Given the description of an element on the screen output the (x, y) to click on. 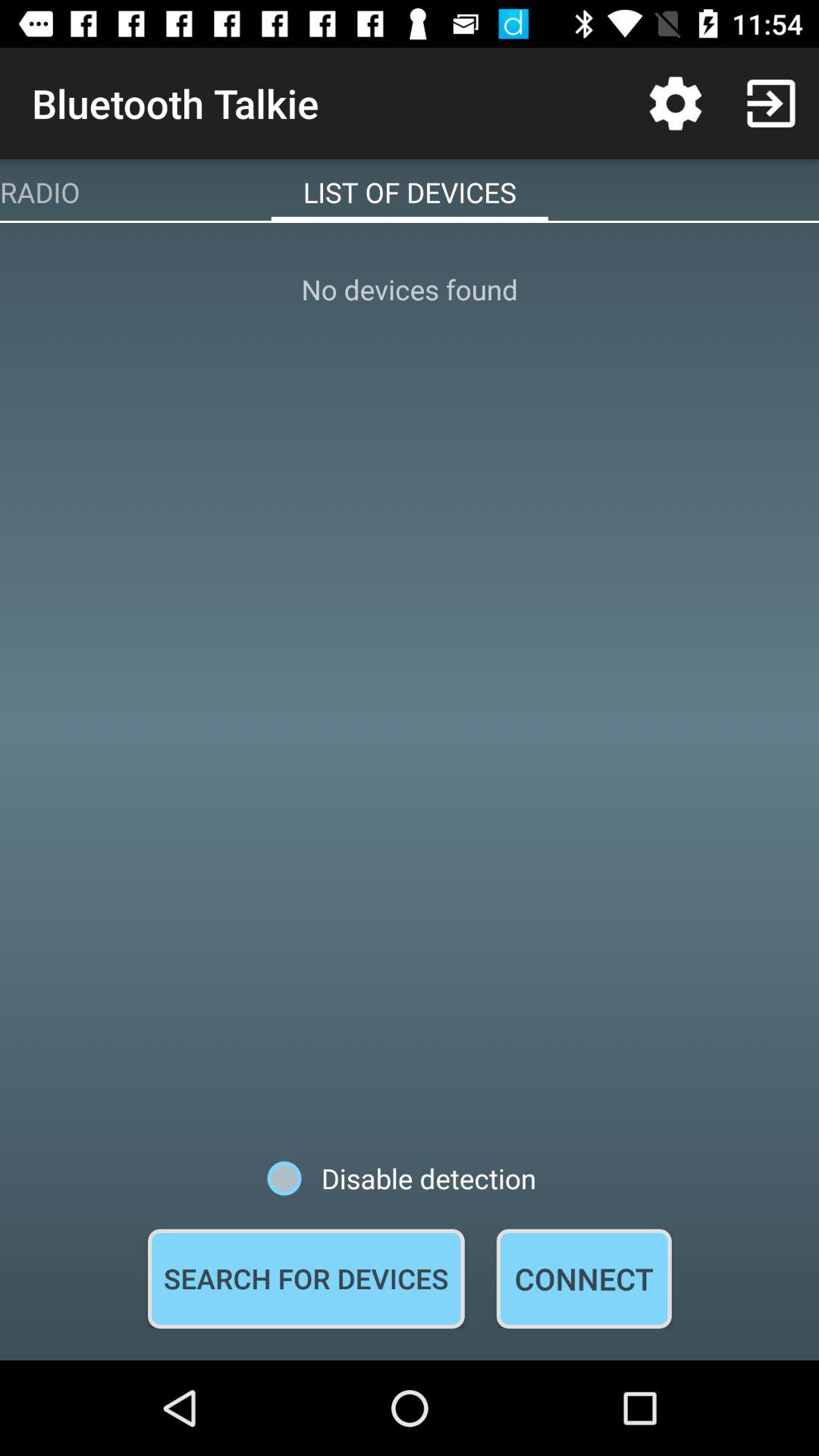
turn off the icon to the right of search for devices item (583, 1278)
